Given the description of an element on the screen output the (x, y) to click on. 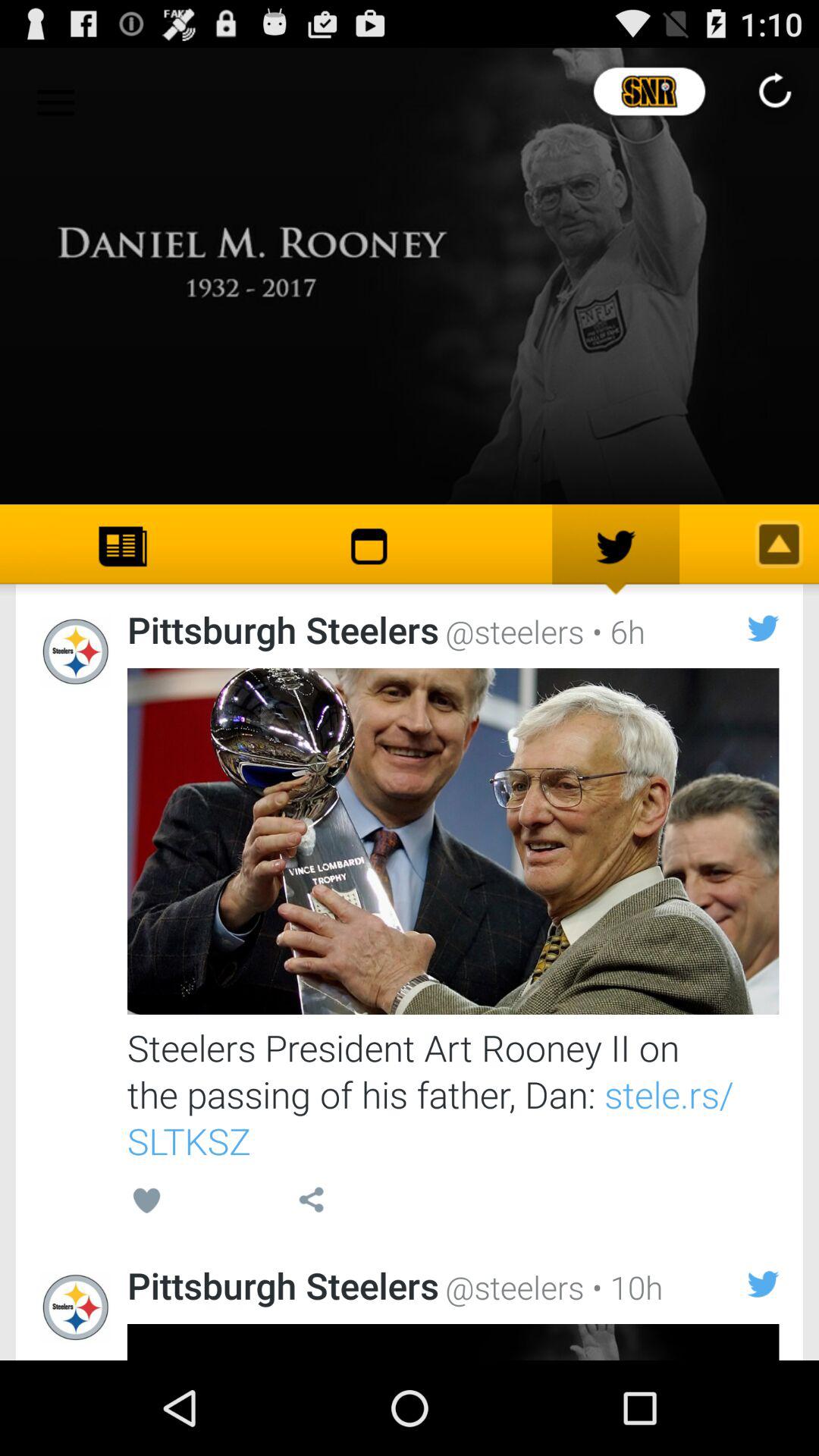
click item next to the @steelers item (614, 630)
